Given the description of an element on the screen output the (x, y) to click on. 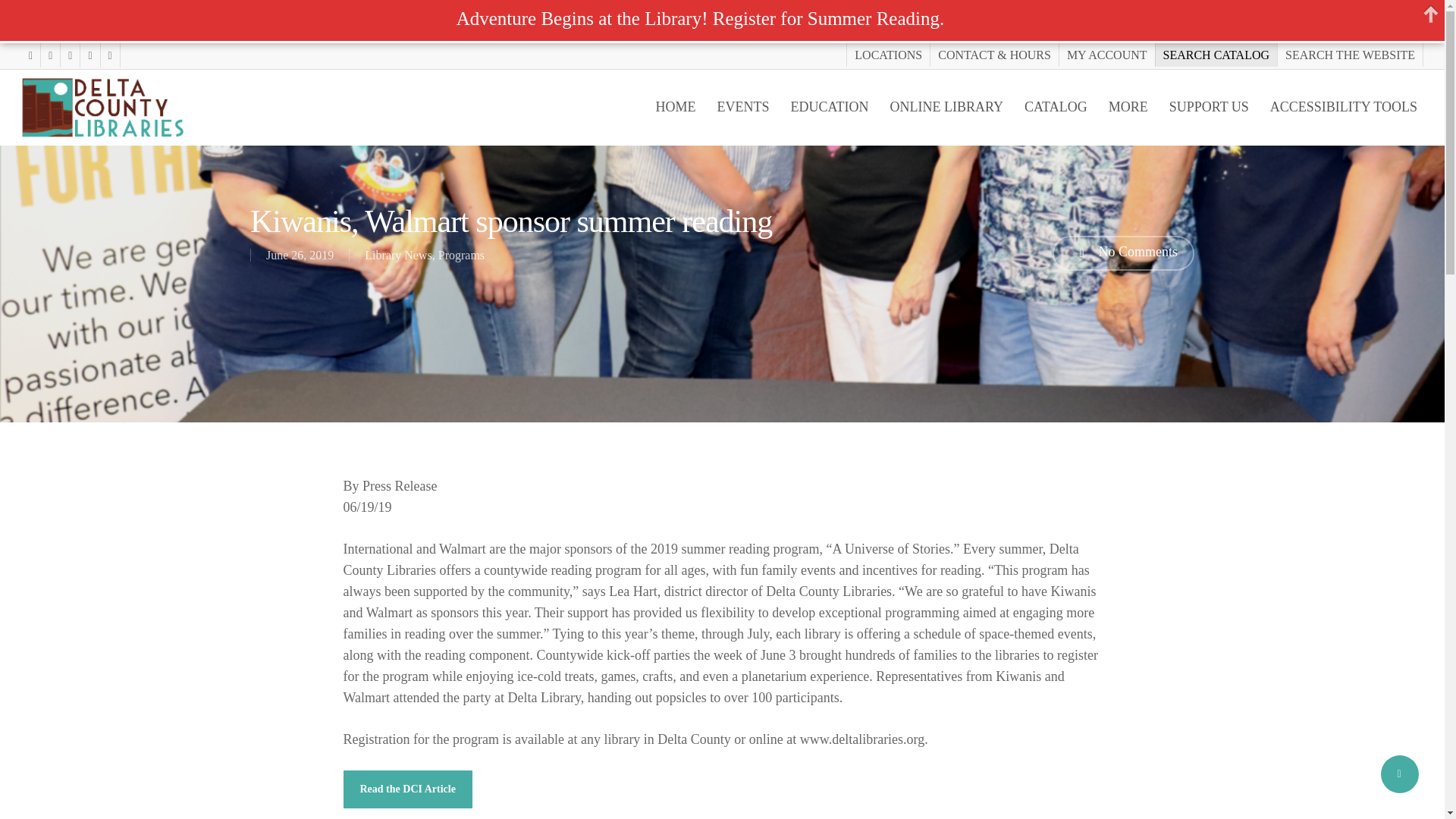
EVENTS (743, 107)
HOME (675, 107)
ONLINE LIBRARY (946, 107)
SEARCH THE WEBSITE (1349, 54)
MY ACCOUNT (1106, 54)
SEARCH CATALOG (1216, 54)
INSTAGRAM (89, 55)
FACEBOOK (49, 55)
SEARCH THE WEBSITE (1349, 54)
EDUCATION (829, 107)
YOUTUBE (69, 55)
TWITTER (30, 55)
PHONE (109, 55)
LOCATIONS (887, 54)
